Given the description of an element on the screen output the (x, y) to click on. 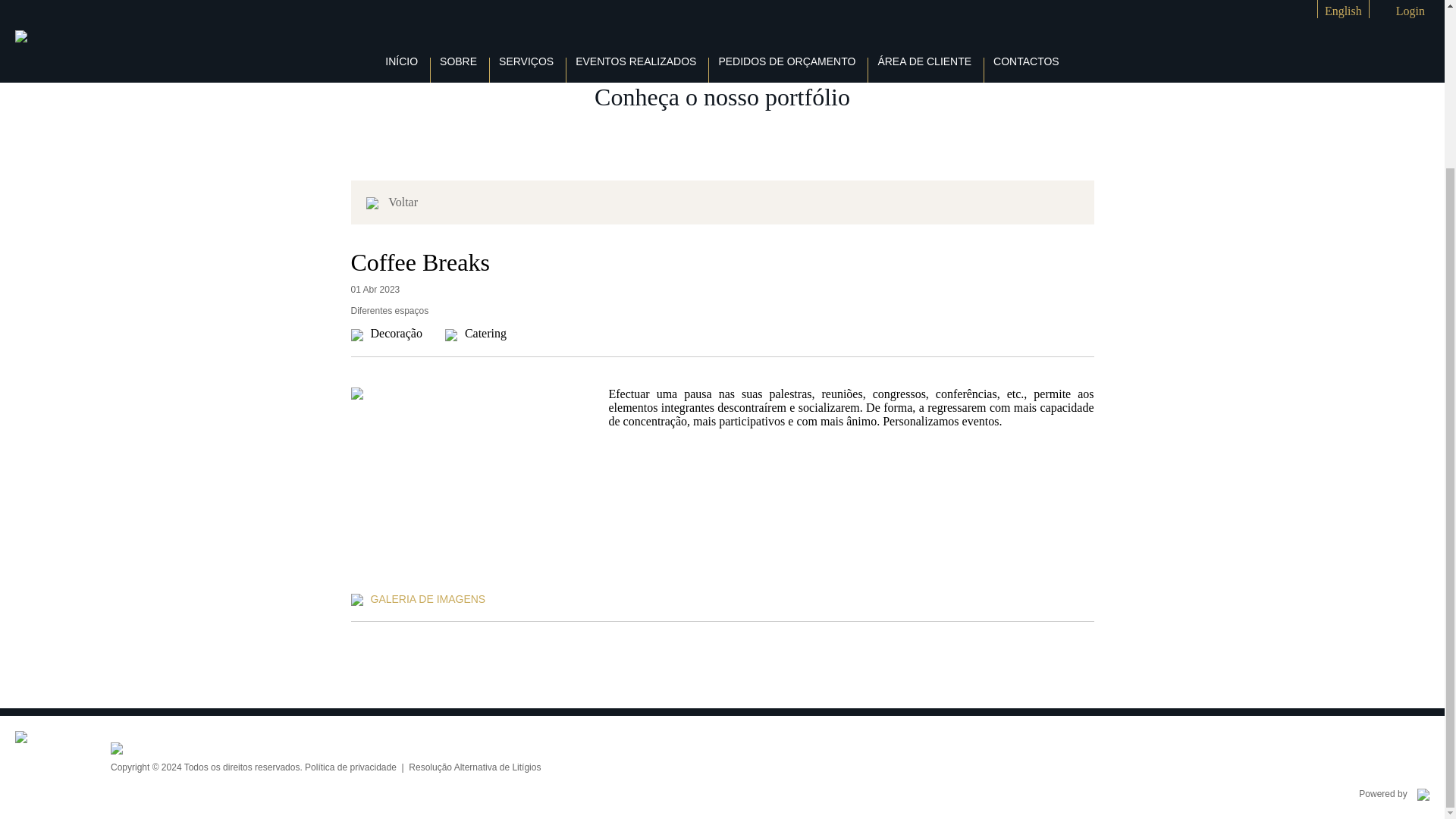
Voltar (375, 201)
Voltar (402, 201)
Voltar (402, 201)
GALERIA DE IMAGENS (426, 598)
